Given the description of an element on the screen output the (x, y) to click on. 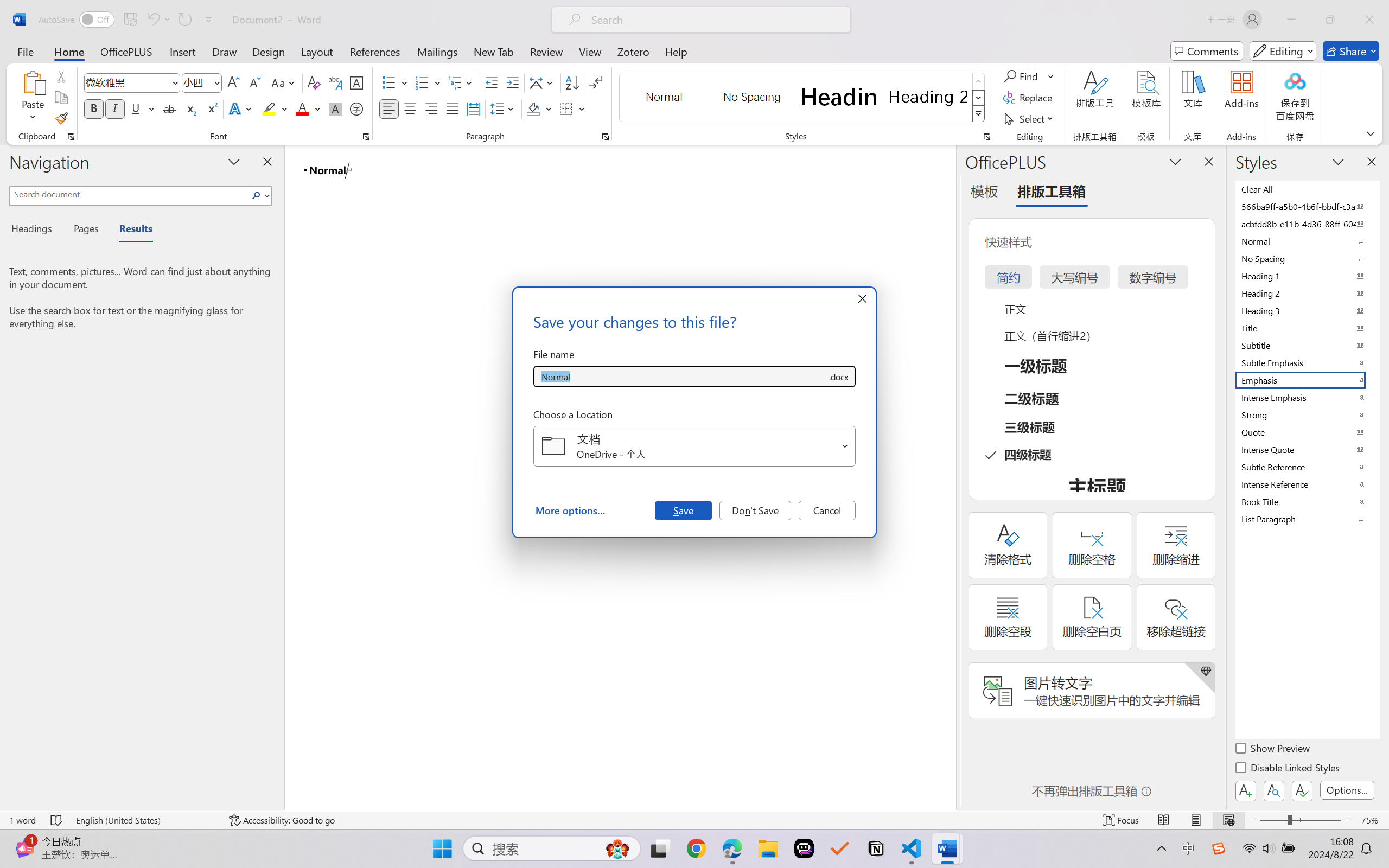
Task Pane Options (1175, 161)
Results (130, 229)
Sort... (571, 82)
Open (844, 446)
Cut (60, 75)
Justify (452, 108)
Title (1306, 327)
